Given the description of an element on the screen output the (x, y) to click on. 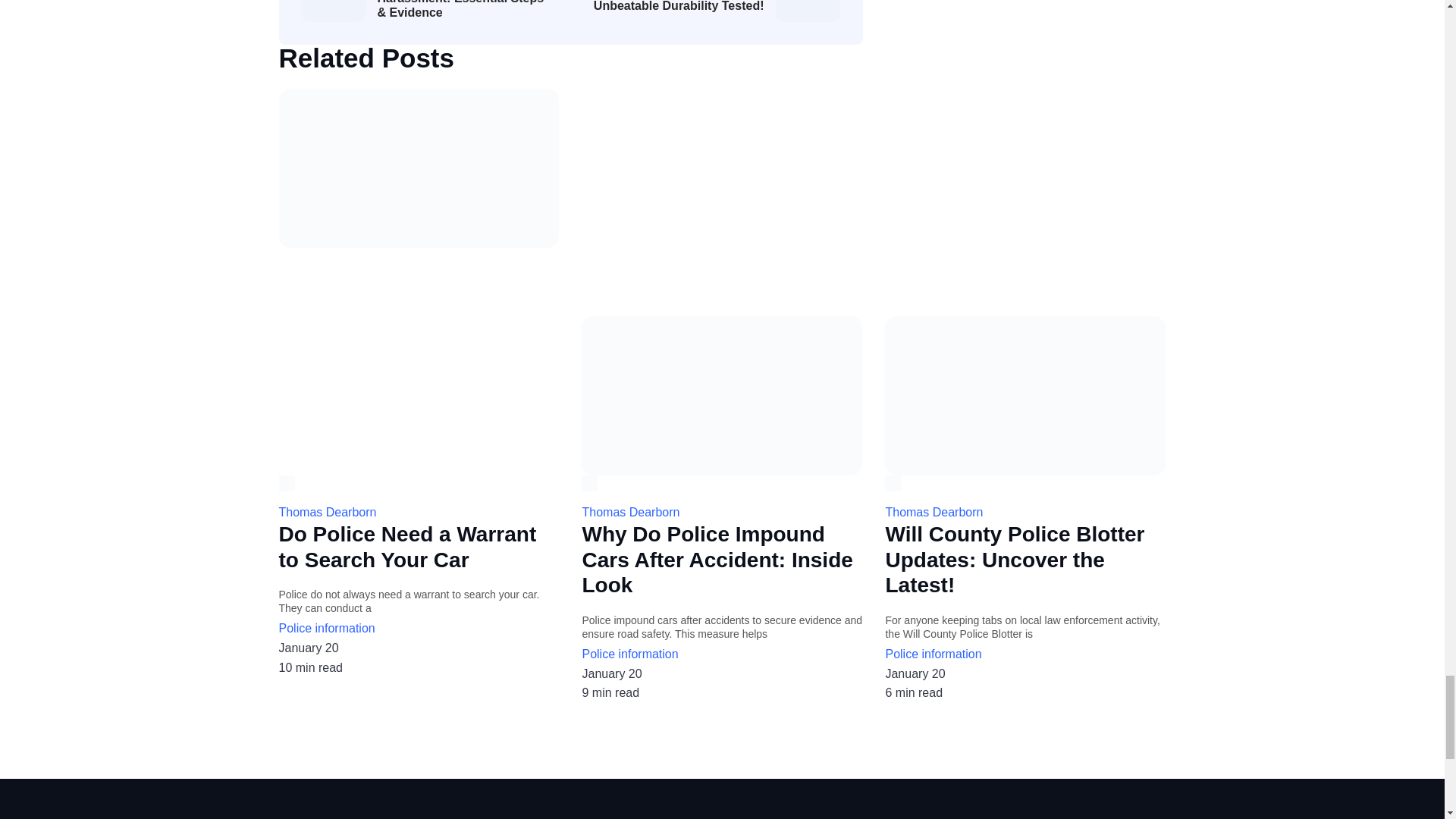
Free Soldier Boots Review: Unbeatable Durability Tested! (677, 6)
